Given the description of an element on the screen output the (x, y) to click on. 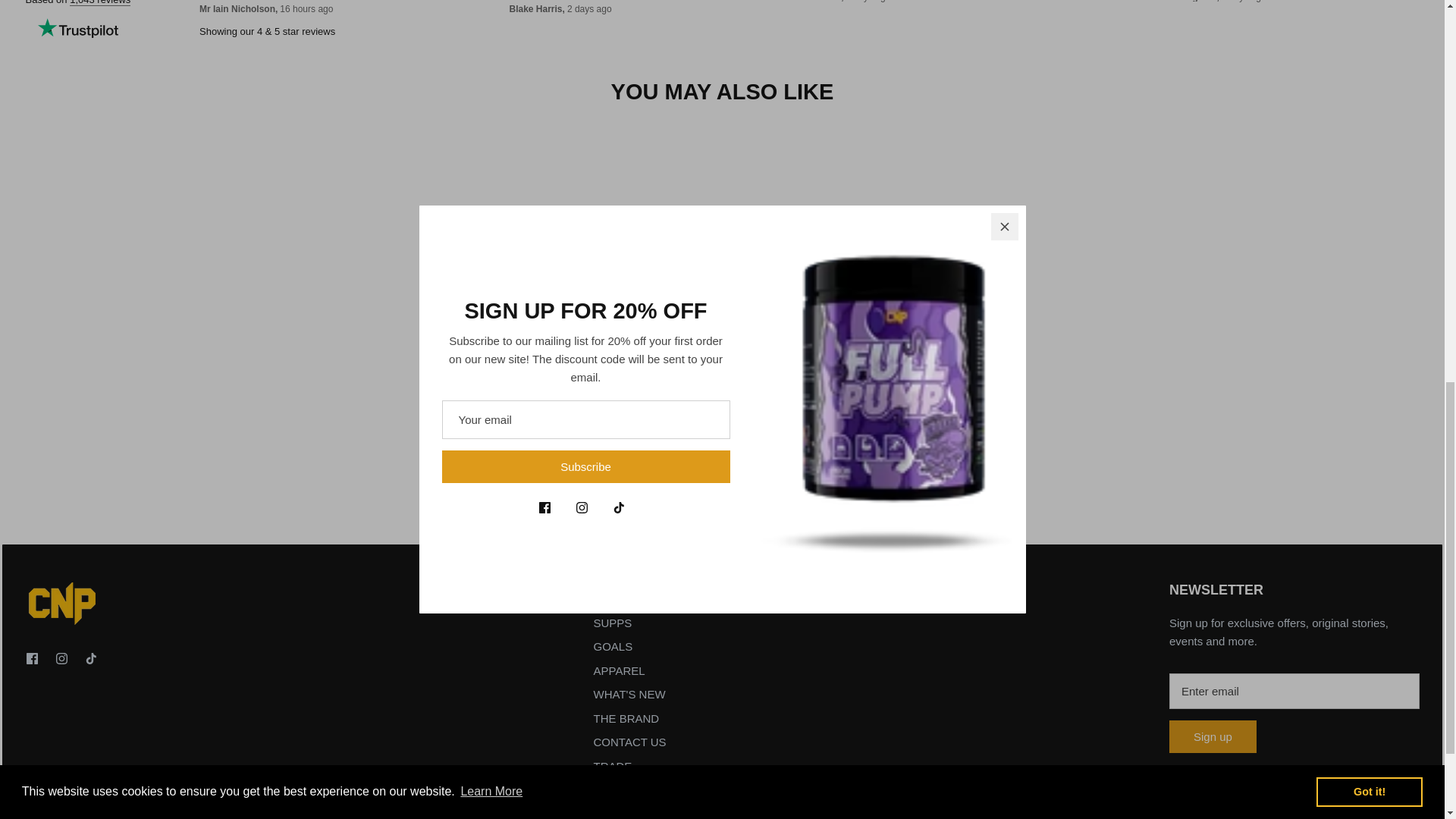
Facebook (31, 658)
Customer reviews powered by Trustpilot (722, 24)
Instagram (61, 658)
